Given the description of an element on the screen output the (x, y) to click on. 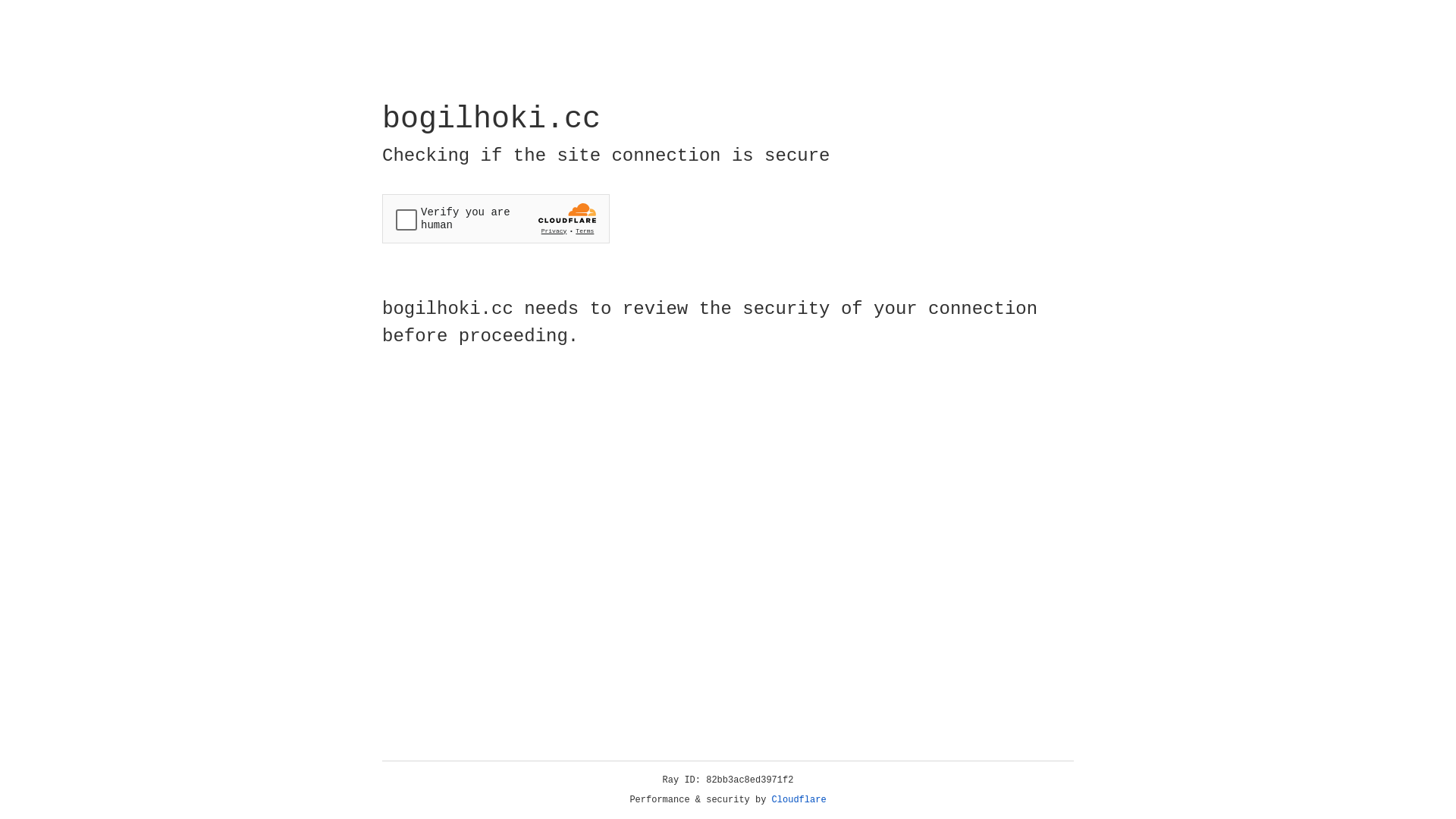
Cloudflare Element type: text (798, 799)
Widget containing a Cloudflare security challenge Element type: hover (495, 218)
